Given the description of an element on the screen output the (x, y) to click on. 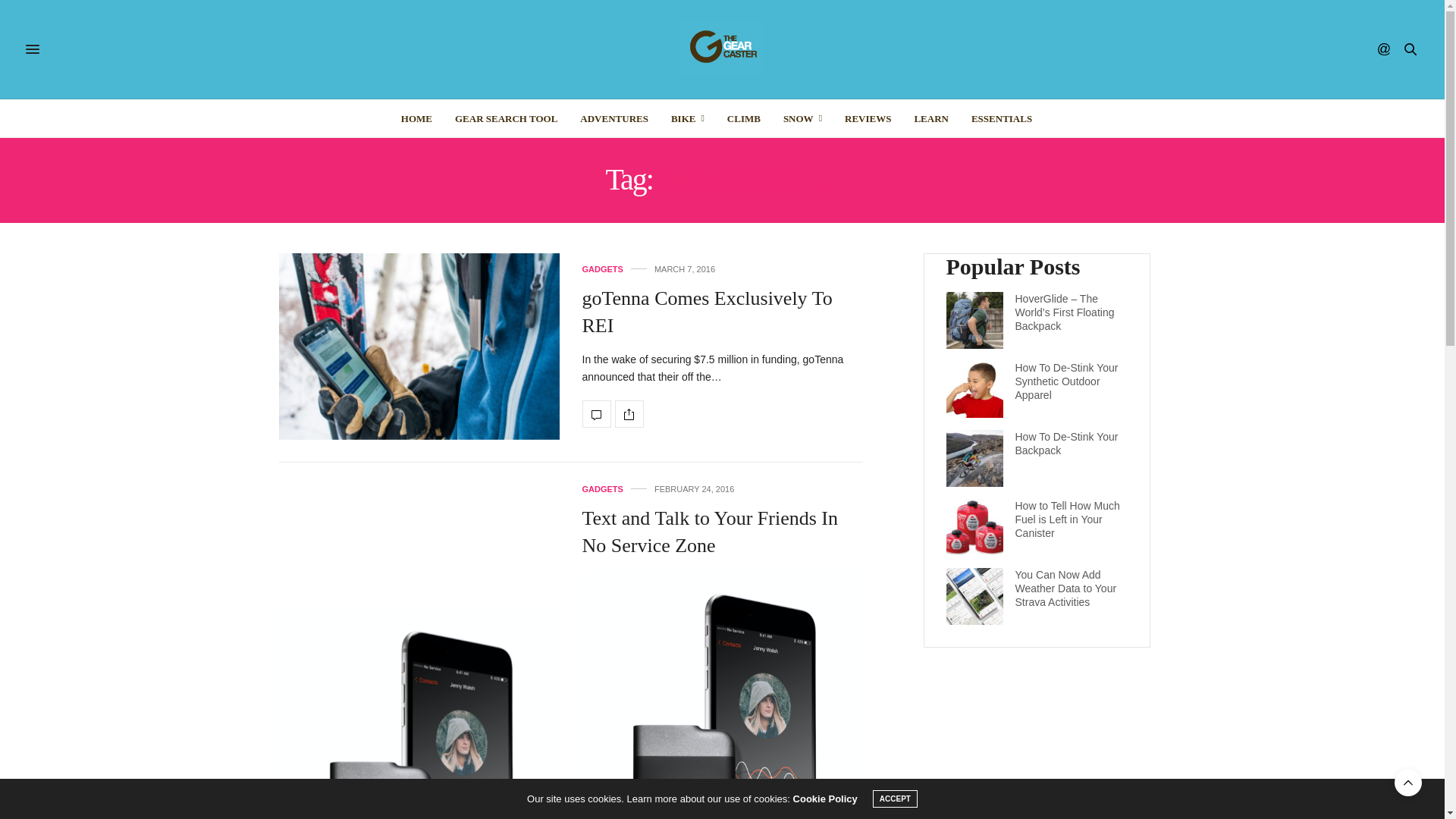
SNOW (802, 118)
Scroll To Top (1408, 782)
goTenna Comes Exclusively To REI (419, 346)
Text and Talk to Your Friends In No Service Zone (710, 531)
Text and Talk to Your Friends In No Service Zone (419, 713)
REVIEWS (867, 118)
GEAR SEARCH TOOL (505, 118)
goTenna Comes Exclusively To REI (596, 413)
ADVENTURES (613, 118)
goTenna Comes Exclusively To REI (707, 311)
The GearCaster (721, 49)
